Given the description of an element on the screen output the (x, y) to click on. 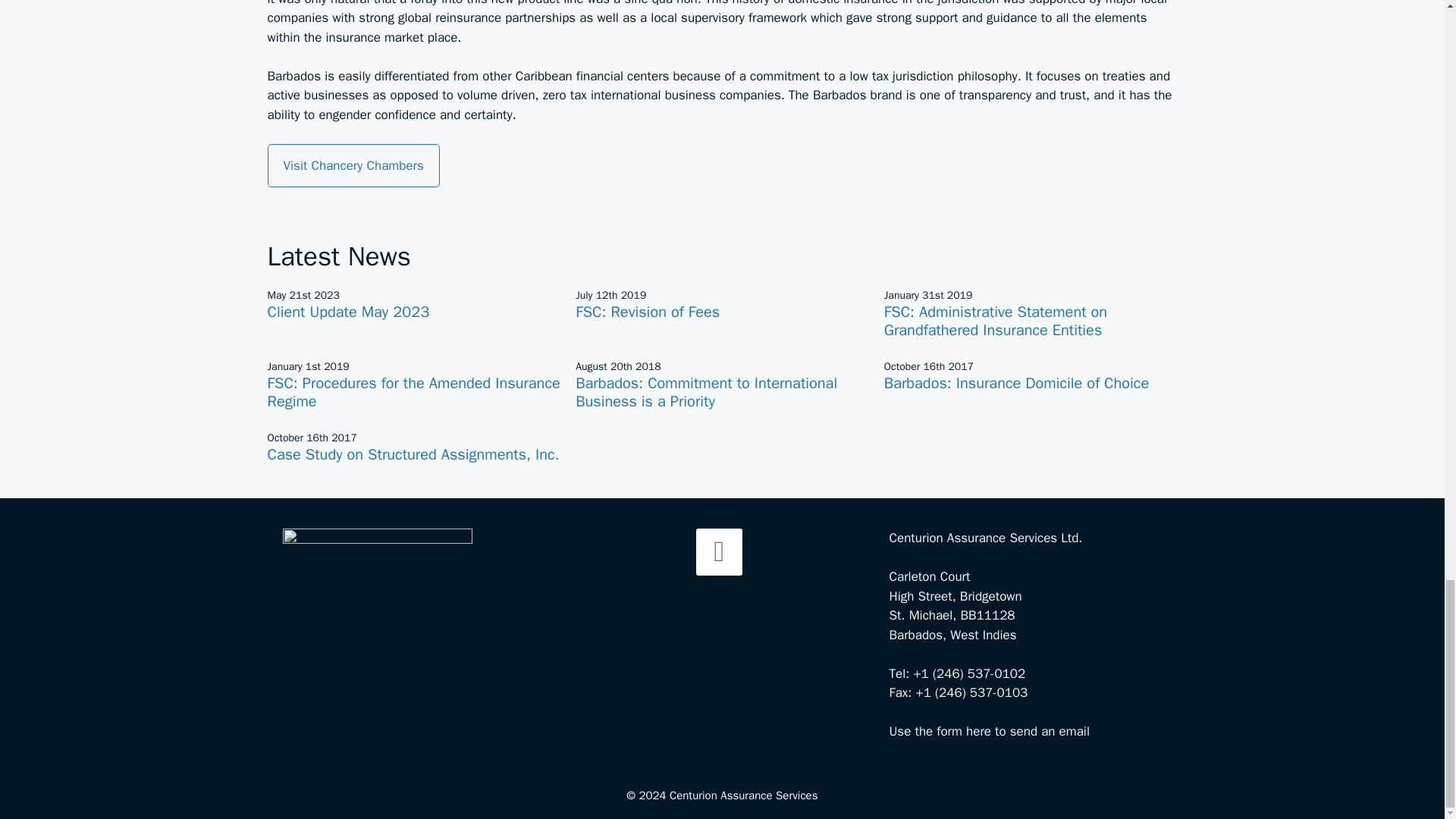
here (978, 731)
Visit Chancery Chambers (352, 166)
Case Study on Structured Assignments, Inc. (412, 454)
LinkedIn (718, 551)
Client Update May 2023 (347, 311)
FSC: Procedures for the Amended Insurance Regime (412, 392)
FSC: Revision of Fees (647, 311)
Barbados: Insurance Domicile of Choice (1015, 383)
